Given the description of an element on the screen output the (x, y) to click on. 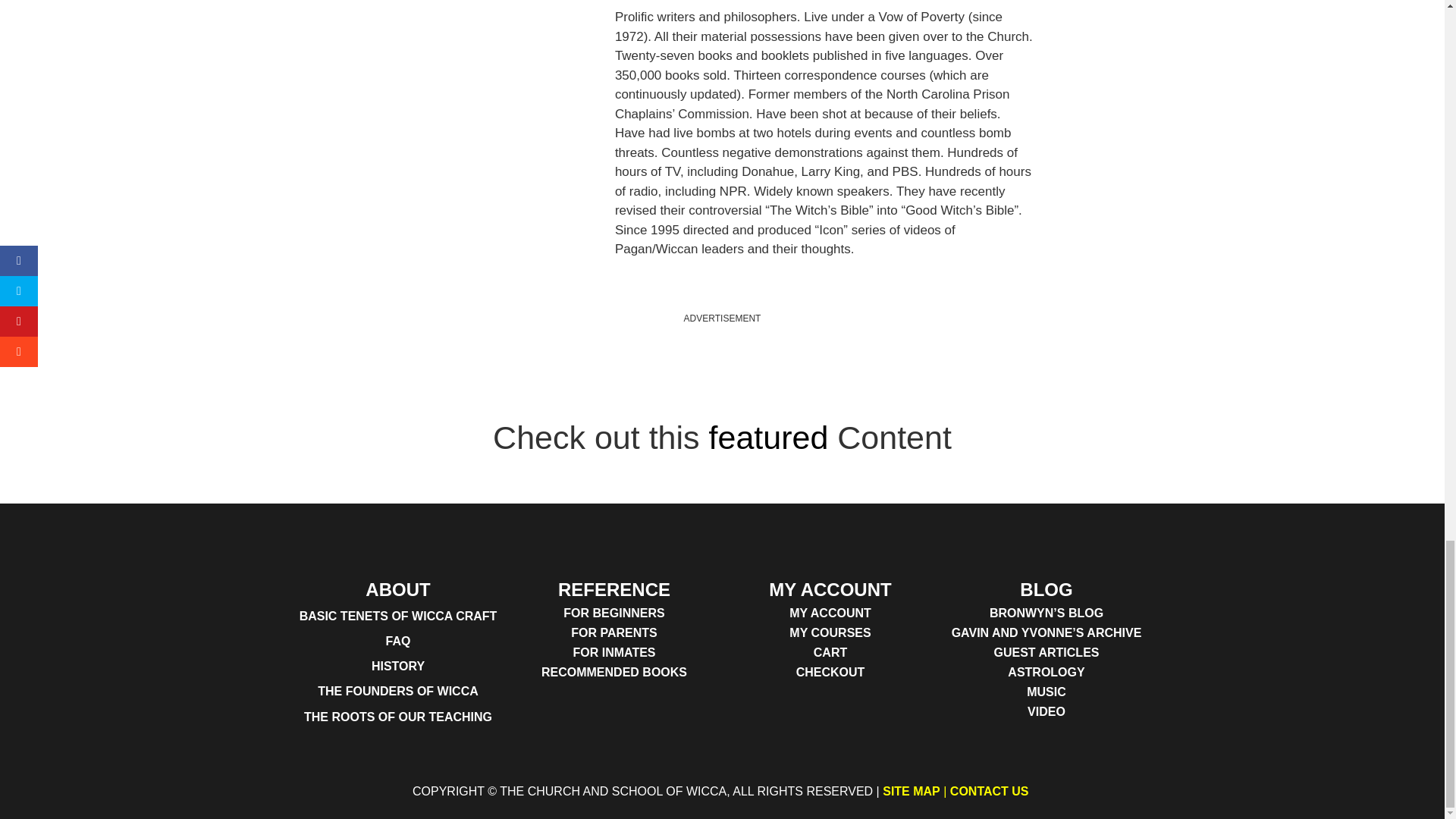
FAQ (397, 640)
RECOMMENDED BOOKS (613, 672)
FOR BEGINNERS (613, 613)
FOR INMATES (613, 652)
FOR PARENTS (613, 632)
THE ROOTS OF OUR TEACHING (397, 716)
THE FOUNDERS OF WICCA (397, 690)
BASIC TENETS OF WICCA CRAFT (397, 615)
HISTORY (397, 665)
